Given the description of an element on the screen output the (x, y) to click on. 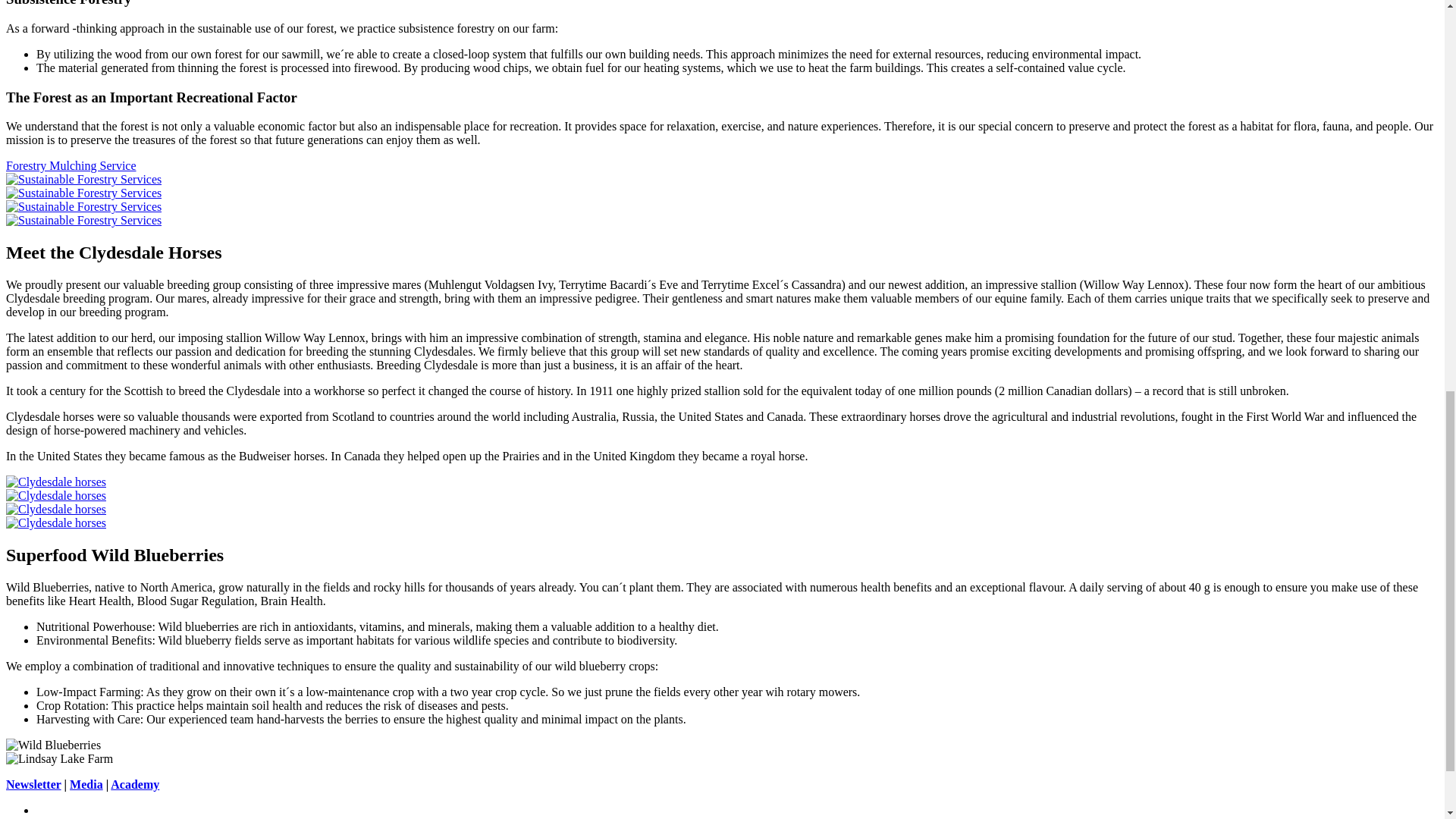
Newsletter (33, 784)
Forestry Mulching Service (70, 164)
Media (86, 784)
Sustainable Forestry Services (83, 178)
Clydesdale horses (55, 481)
Clydesdale horses (55, 508)
Clydesdale horses (55, 522)
Academy (134, 784)
Sustainable Forestry Services (83, 205)
Sustainable Forestry Services (83, 219)
